Given the description of an element on the screen output the (x, y) to click on. 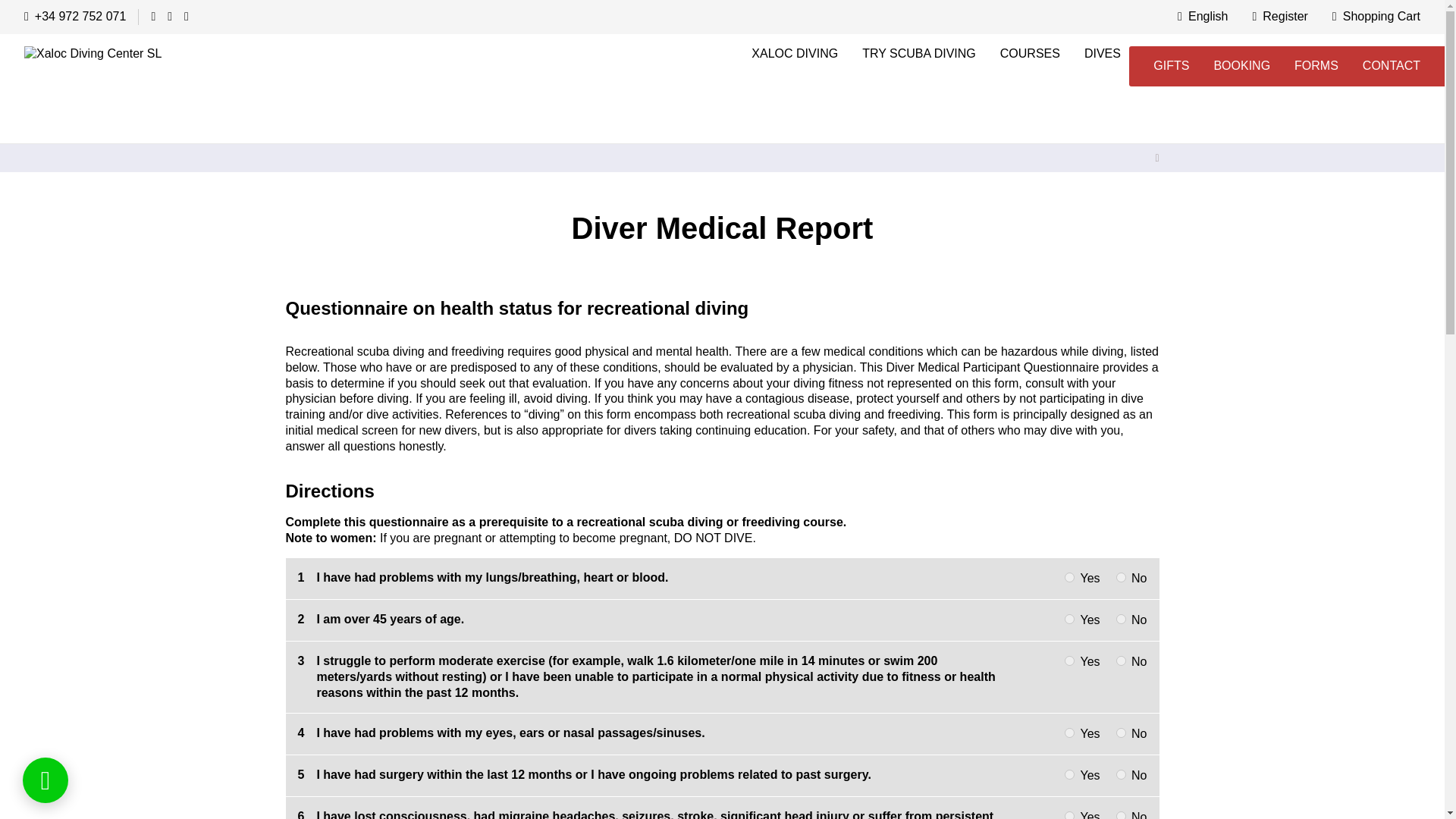
0 (1120, 732)
1 (1069, 815)
0 (1120, 577)
TRY SCUBA DIVING (919, 54)
1 (1069, 732)
DIVES (1101, 54)
1 (1069, 660)
0 (1120, 660)
COURSES (1029, 54)
0 (1120, 815)
